Given the description of an element on the screen output the (x, y) to click on. 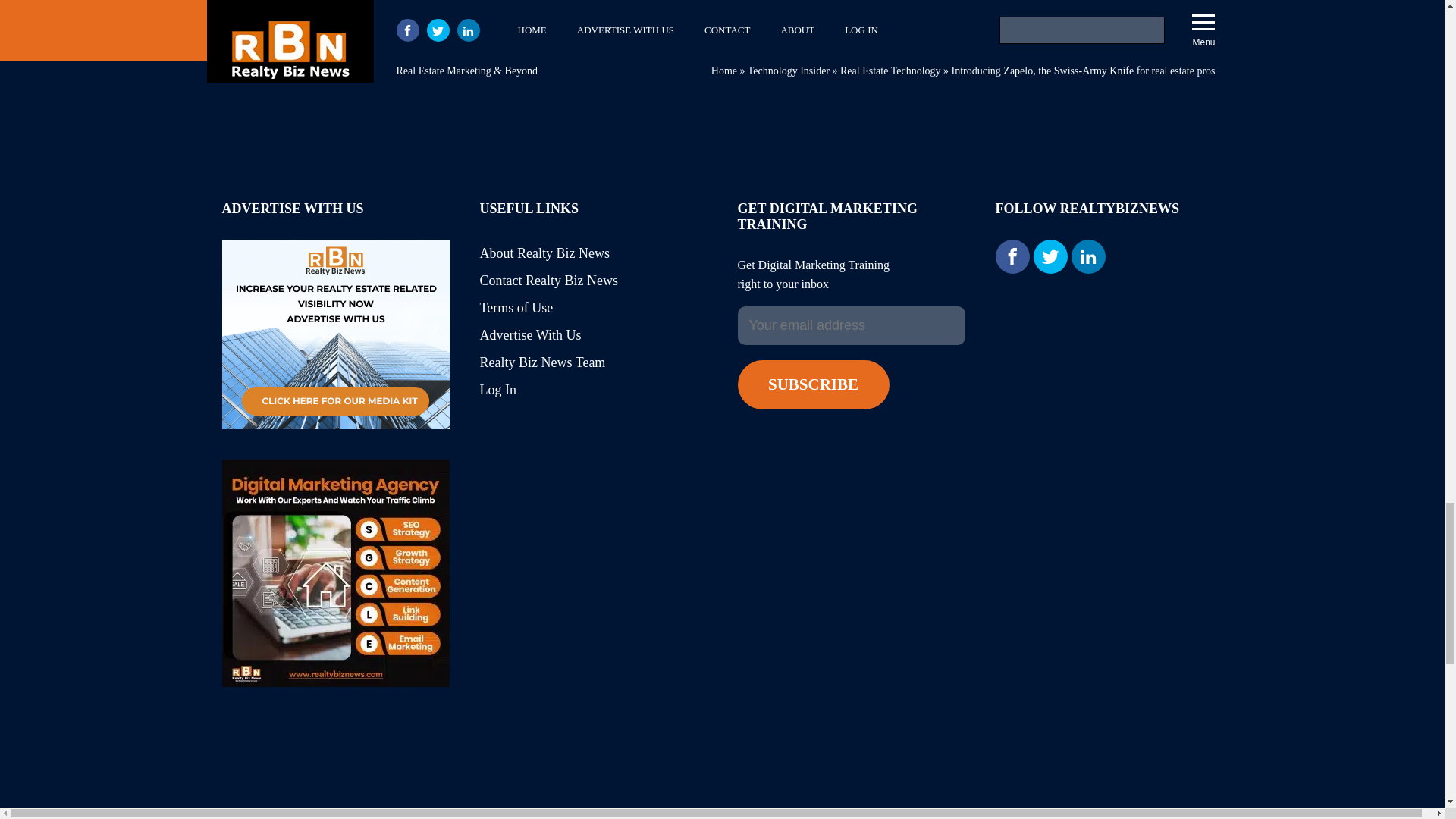
Advertisement (721, 792)
Subscribe (812, 384)
Advertisement (721, 60)
